Given the description of an element on the screen output the (x, y) to click on. 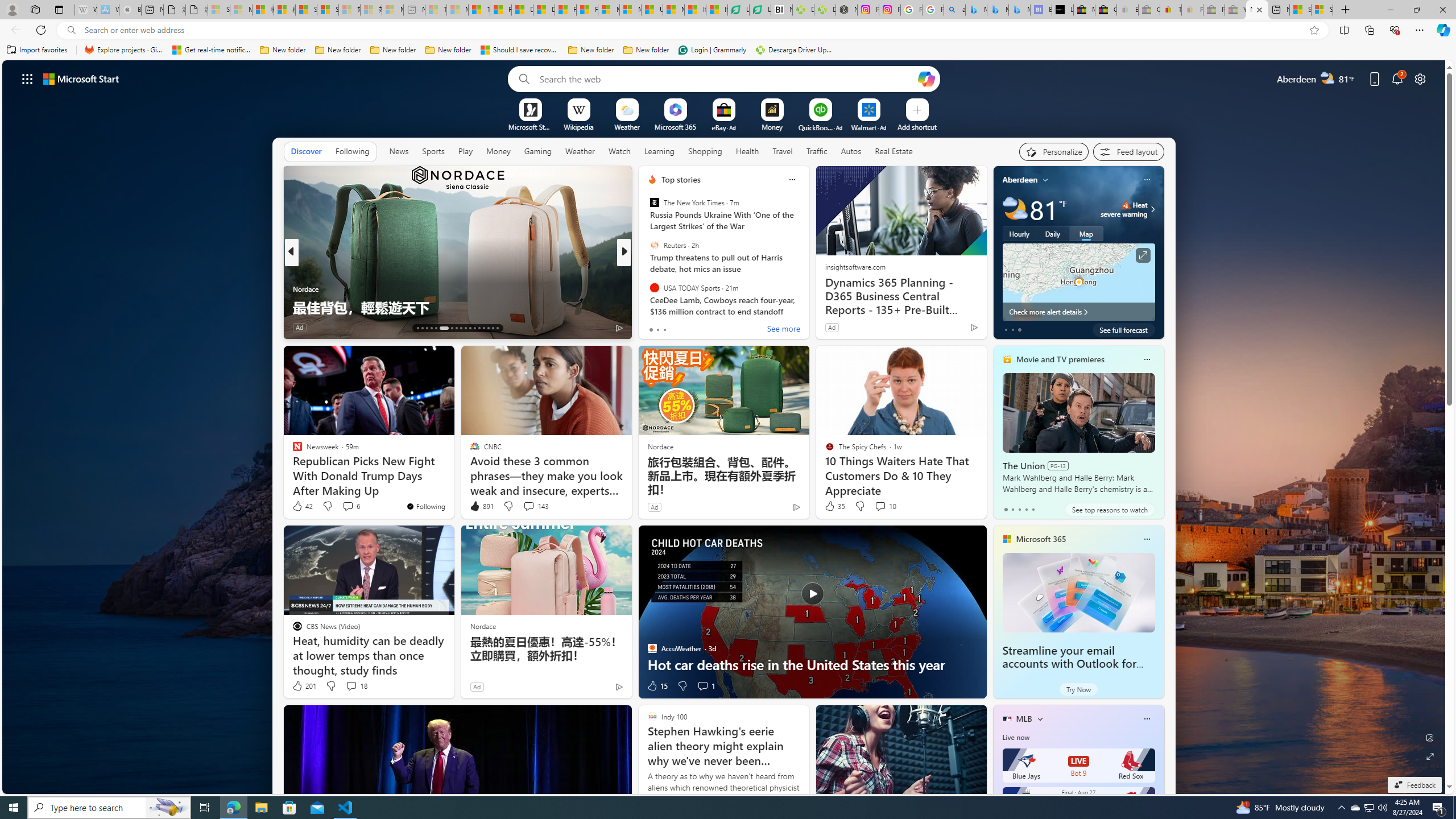
Favorites bar (728, 49)
Partly cloudy (1014, 208)
Heat - Severe Heat severe warning (1123, 208)
AutomationID: tab-14 (422, 328)
See full forecast (1123, 329)
15 Like (657, 685)
AutomationID: tab-31 (488, 328)
AutomationID: backgroundImagePicture (723, 426)
